Given the description of an element on the screen output the (x, y) to click on. 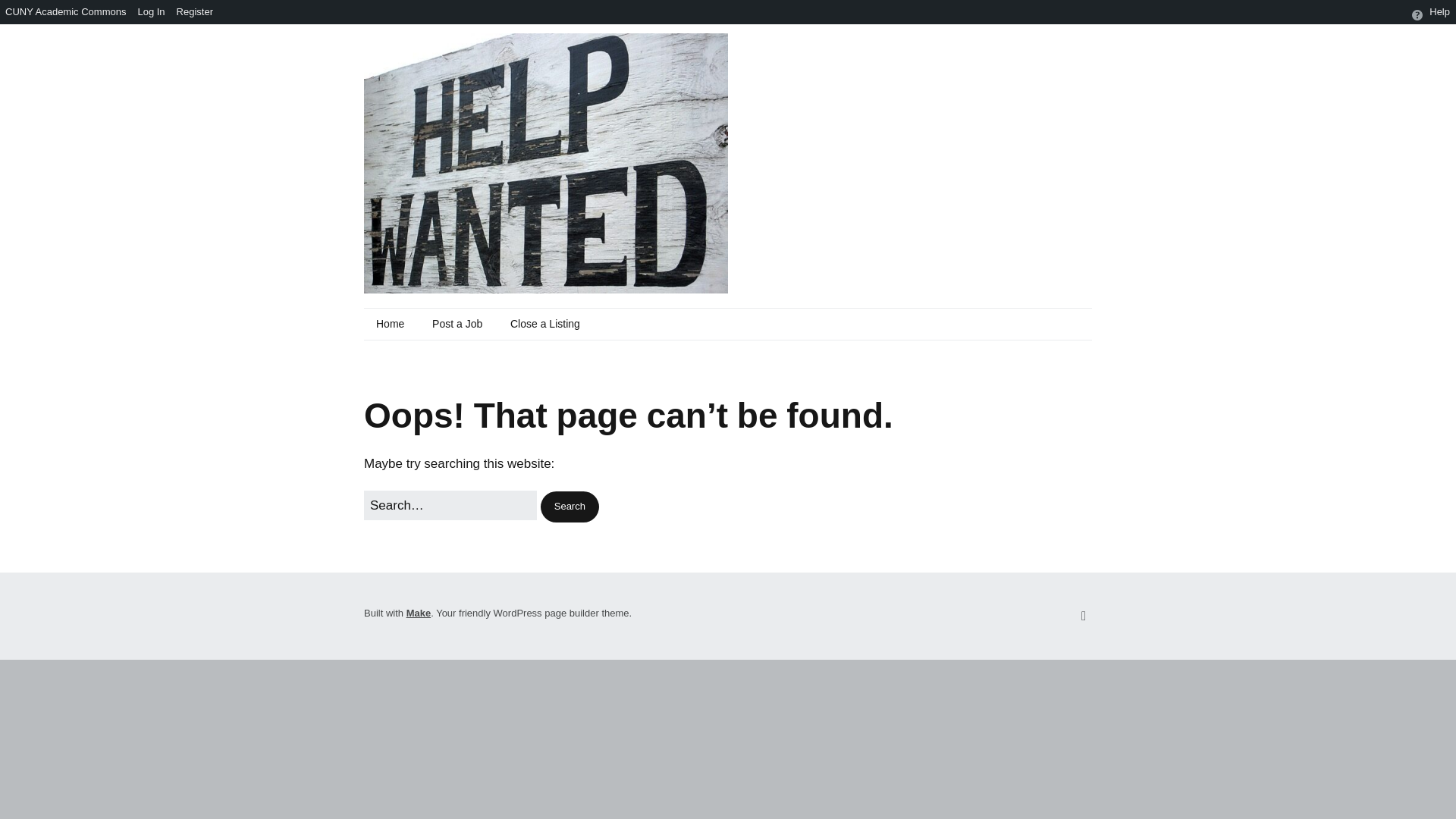
Post a Job (457, 324)
Log In (151, 12)
Register (195, 12)
CUNY Academic Commons (66, 12)
Make (418, 613)
Search (569, 506)
Press Enter to submit your search (450, 505)
Search (569, 506)
Home (390, 324)
Search (569, 506)
